Given the description of an element on the screen output the (x, y) to click on. 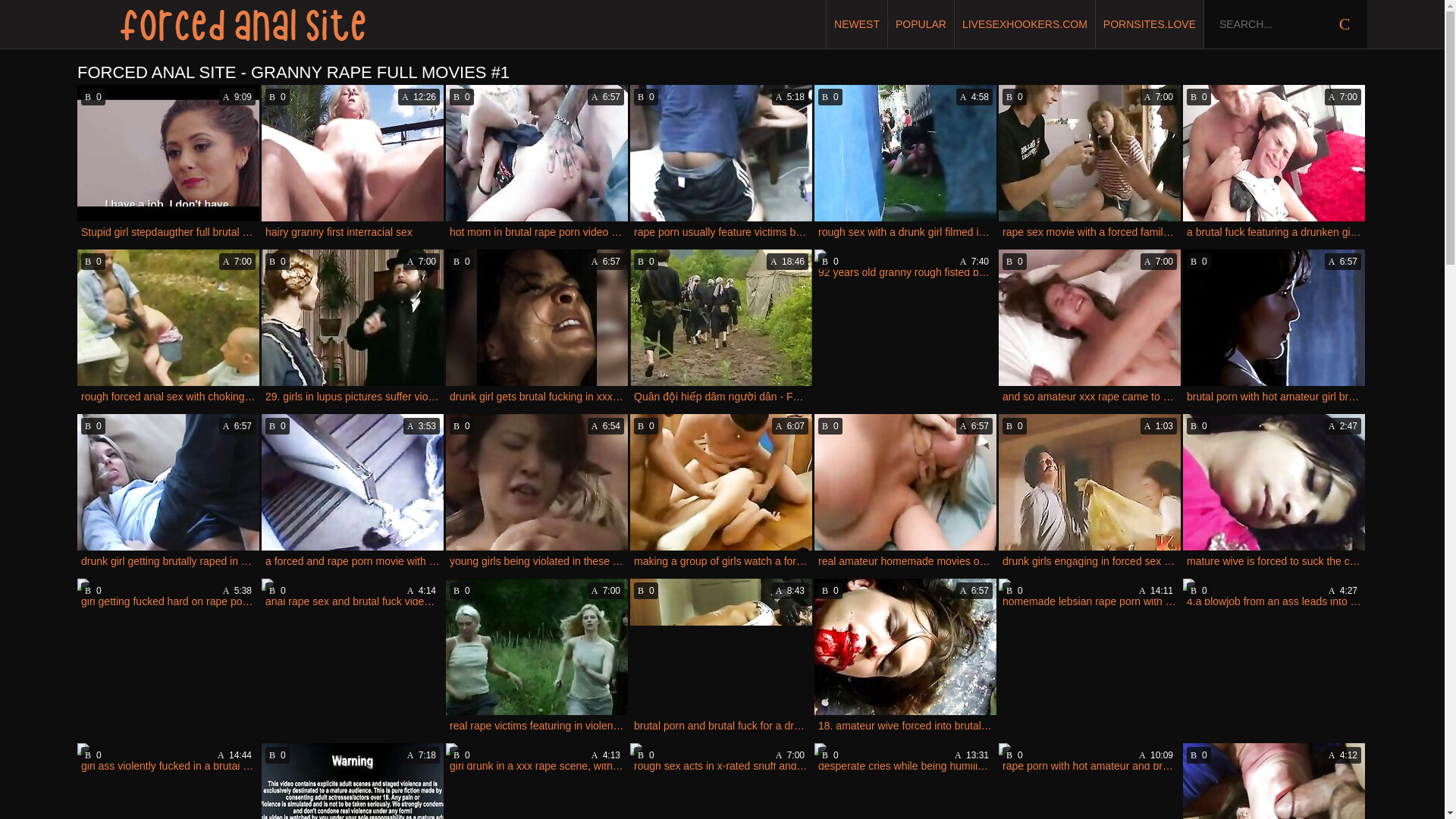
PORNSITES.LOVE (1150, 24)
